Given the description of an element on the screen output the (x, y) to click on. 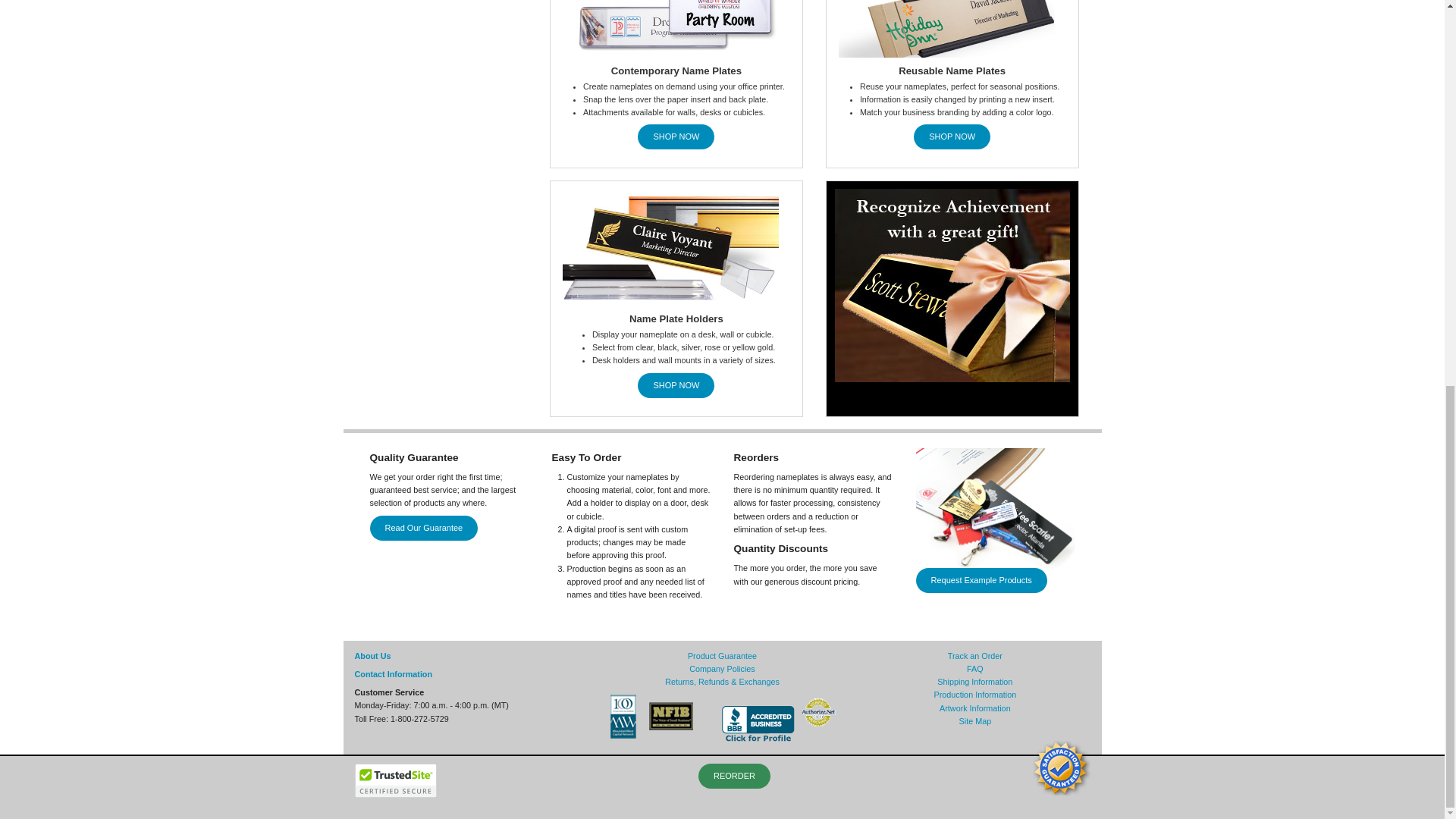
Top to bottom: 2x10 inches, 3x5.25 inches and 2x8 inches. (676, 28)
AuthorizeNet (818, 712)
NFIB (671, 716)
